Given the description of an element on the screen output the (x, y) to click on. 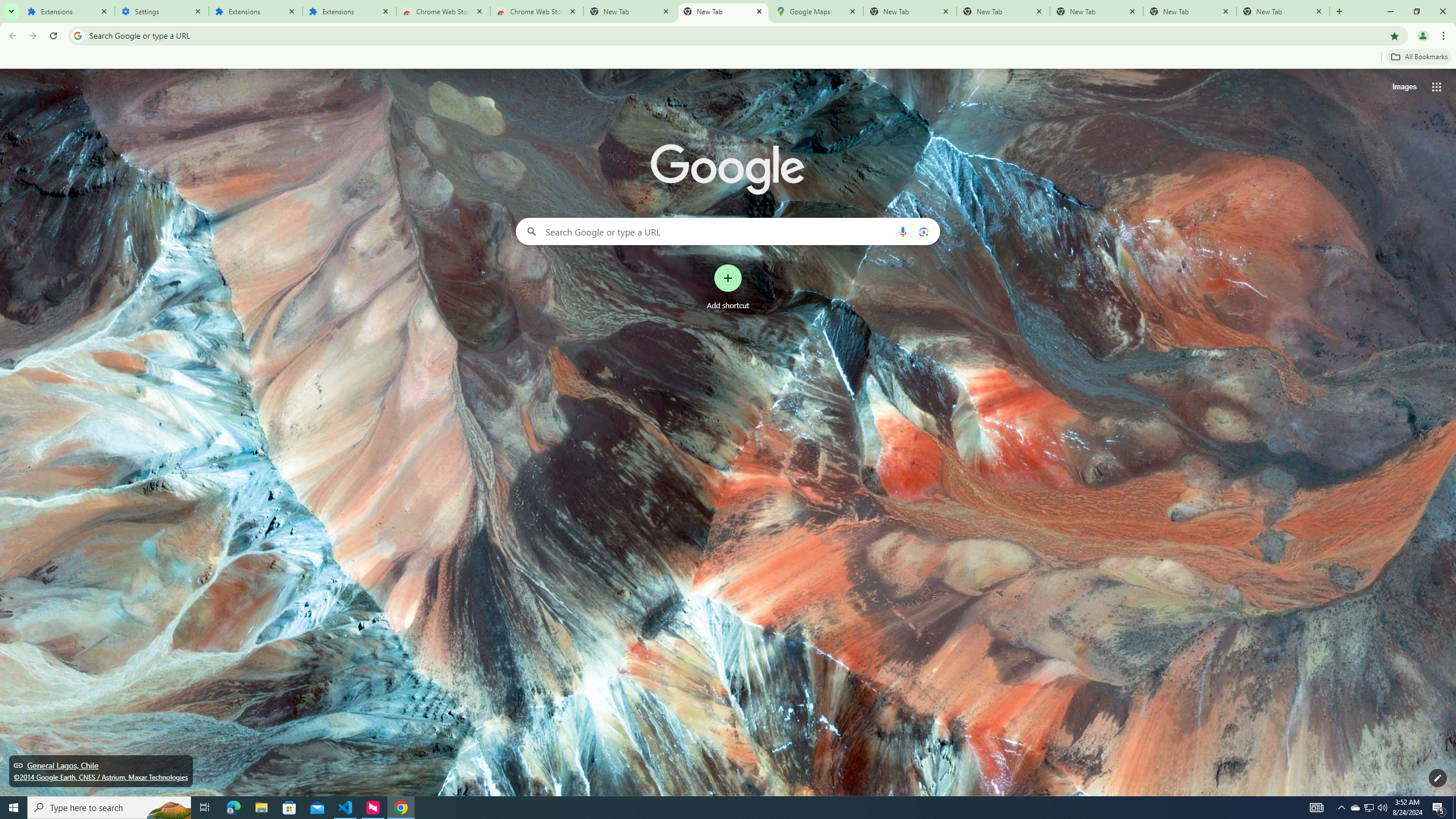
Settings (161, 11)
Extensions (255, 11)
New Tab (722, 11)
New Tab (1096, 11)
Google Maps (815, 11)
Search Google or type a URL (727, 230)
New Tab (1283, 11)
Customize this page (1437, 778)
